Given the description of an element on the screen output the (x, y) to click on. 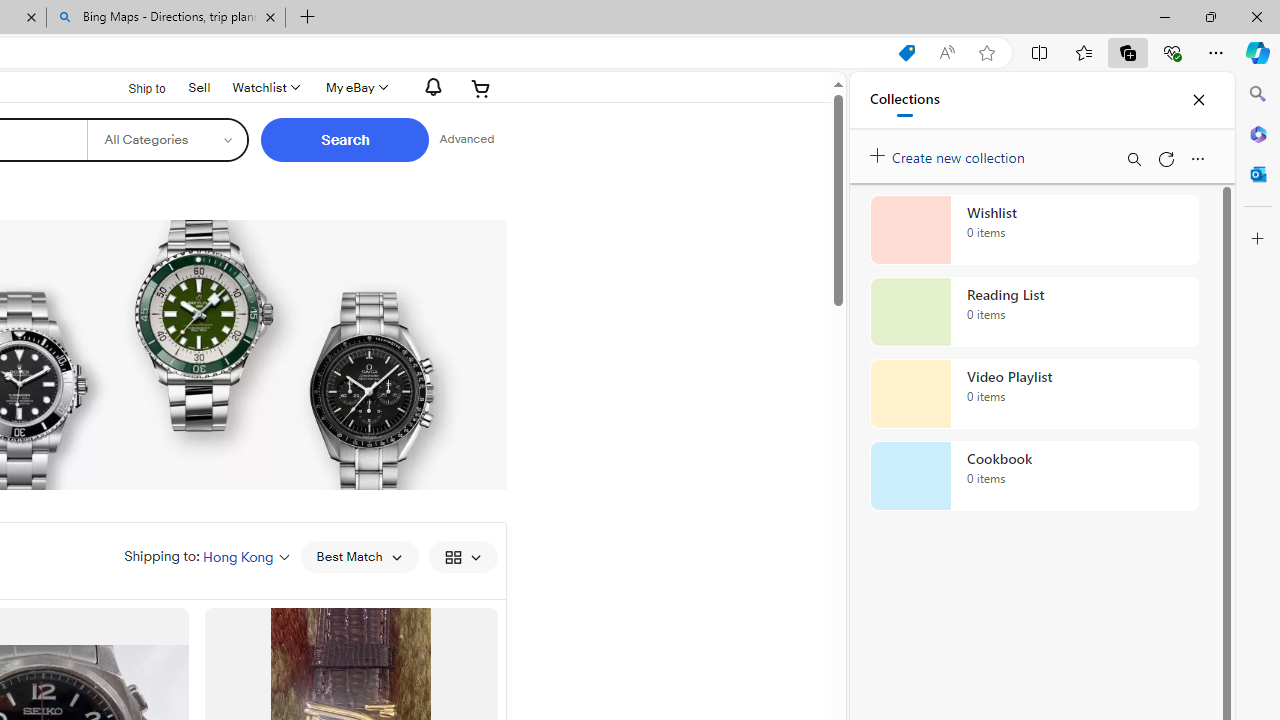
AutomationID: gh-eb-Alerts (430, 87)
Ship to (134, 86)
Ship to (134, 89)
Notifications (427, 87)
Reading List collection, 0 items (1034, 312)
Sell (199, 87)
Select a category for search (167, 139)
Favorites (1083, 52)
Wishlist collection, 0 items (1034, 229)
Shipping to: Hong Kong (207, 556)
